Given the description of an element on the screen output the (x, y) to click on. 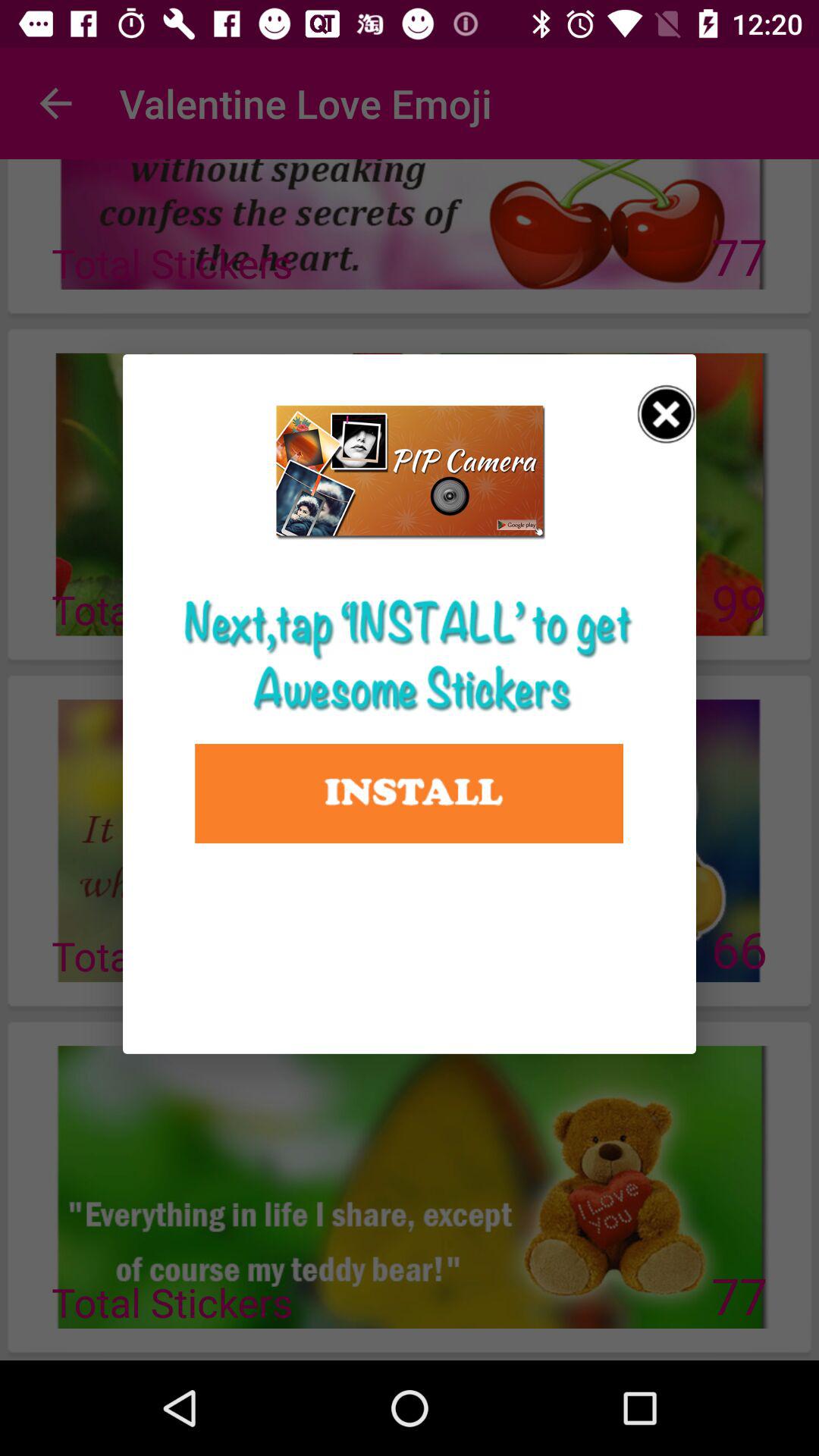
turn on icon at the top right corner (666, 414)
